Given the description of an element on the screen output the (x, y) to click on. 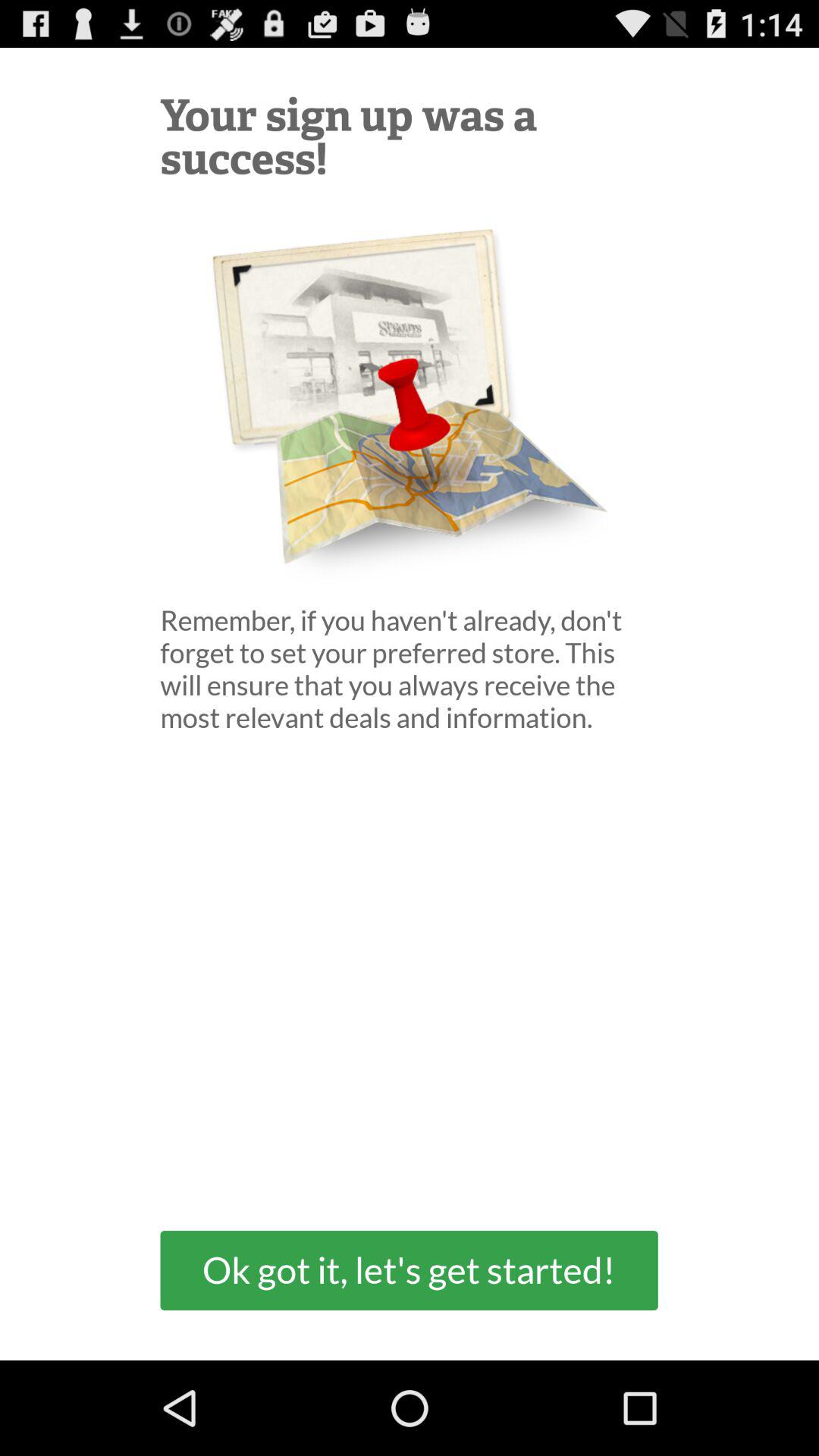
press item below remember if you item (409, 1270)
